Given the description of an element on the screen output the (x, y) to click on. 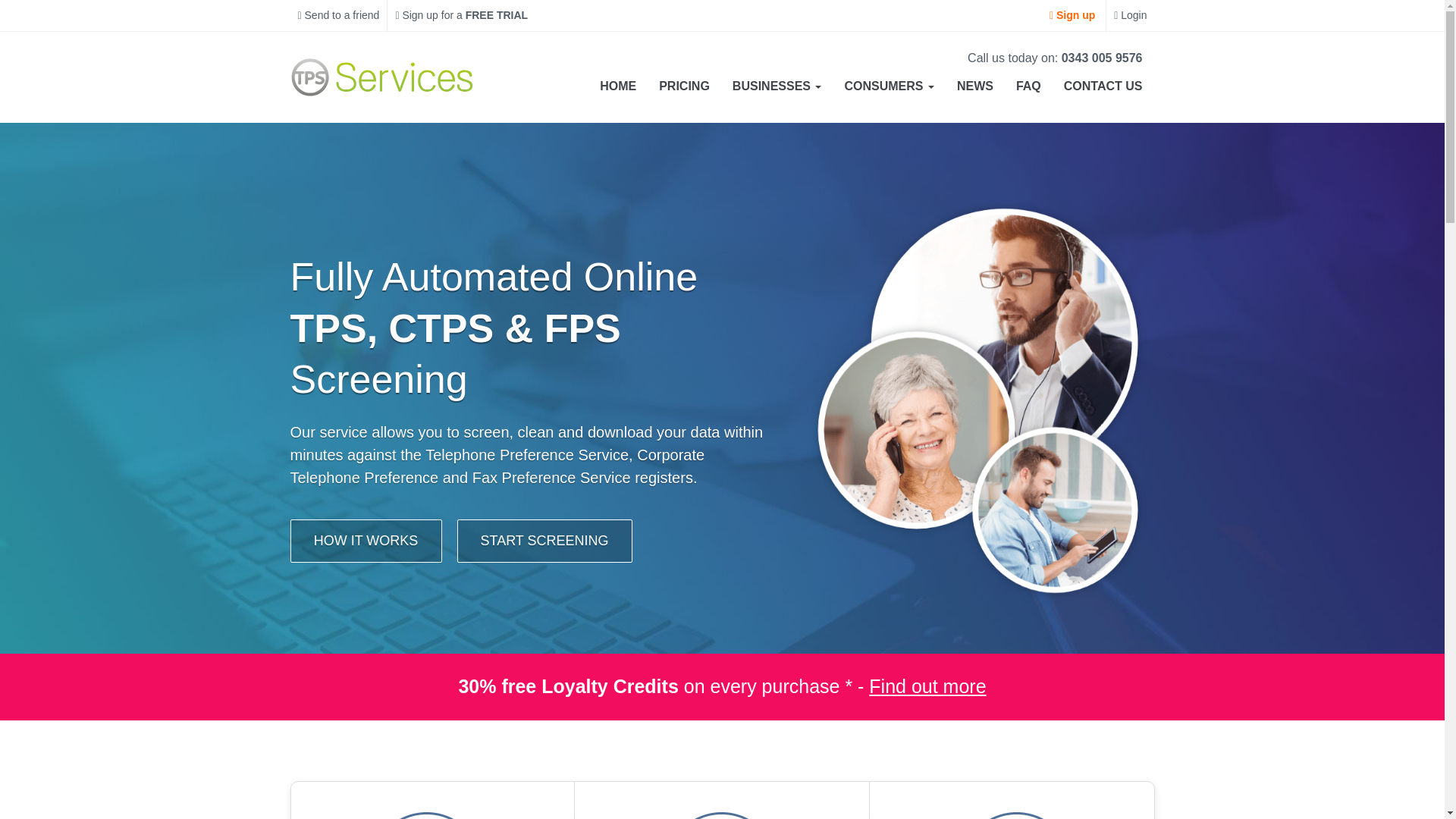
CONSUMERS (888, 86)
HOME (617, 86)
Sign up (1072, 15)
Send to a friend (338, 15)
Login (1129, 15)
BUSINESSES (776, 86)
Sign up for a FREE TRIAL (461, 15)
PRICING (683, 86)
